Given the description of an element on the screen output the (x, y) to click on. 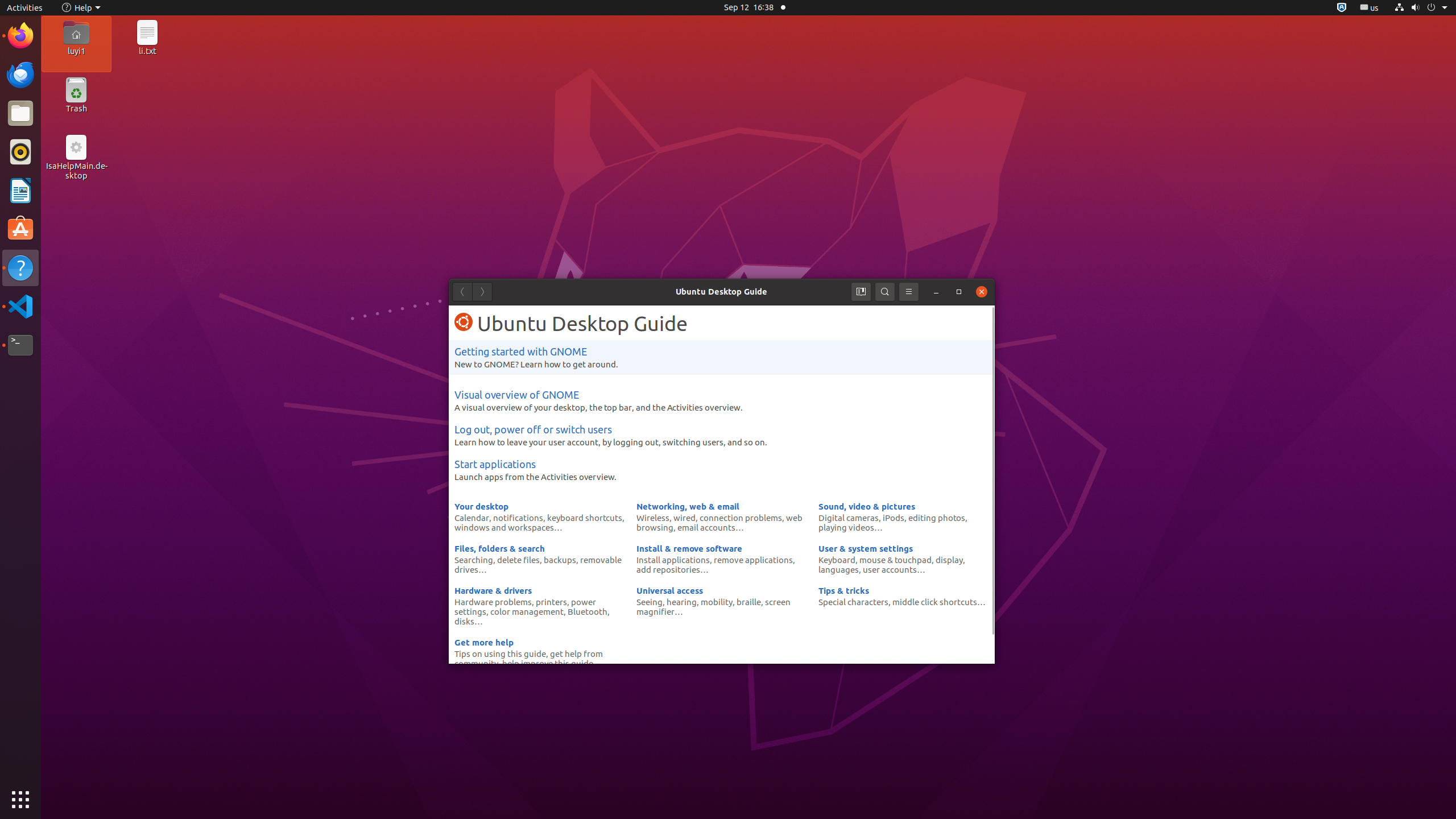
get help from community Element type: link (528, 658)
Tips on using this guide Element type: link (500, 653)
Trash Element type: label (75, 108)
Seeing Element type: link (649, 601)
user accounts Element type: link (889, 569)
